Given the description of an element on the screen output the (x, y) to click on. 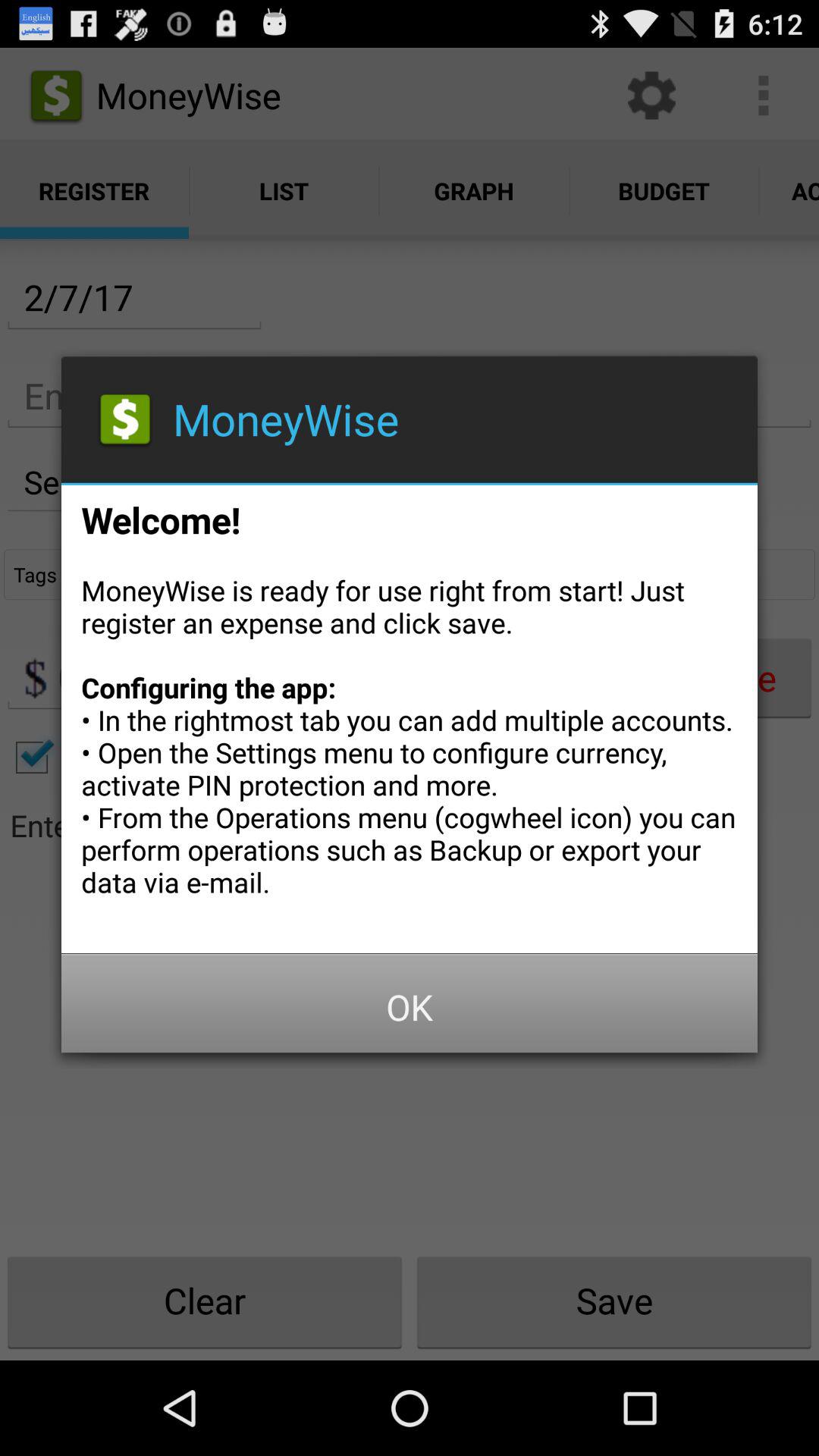
select the app at the center (409, 714)
